Given the description of an element on the screen output the (x, y) to click on. 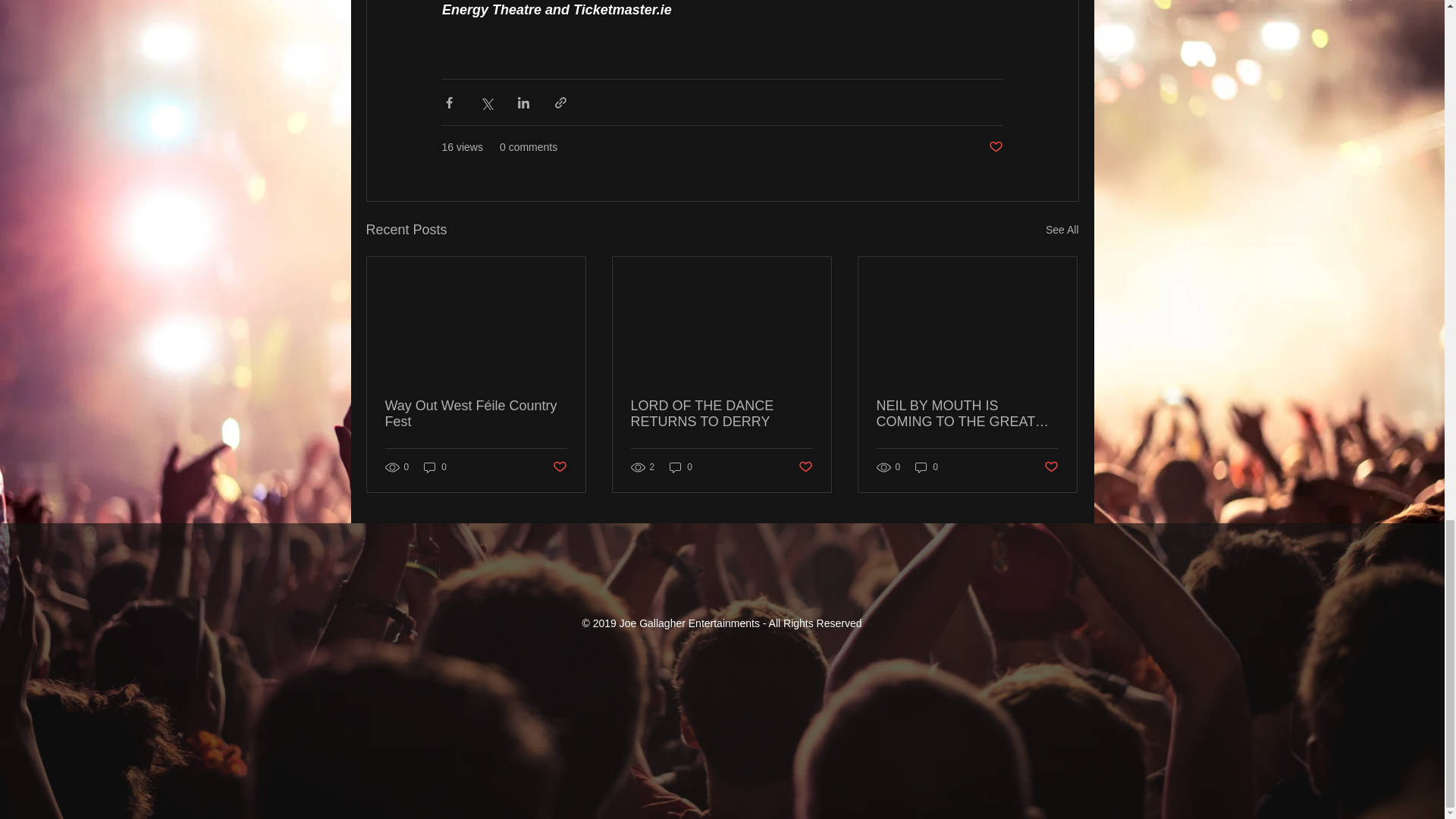
See All (1061, 229)
0 (926, 467)
Post not marked as liked (558, 466)
Post not marked as liked (995, 147)
Post not marked as liked (1050, 466)
0 (681, 467)
0 (435, 467)
Post not marked as liked (804, 466)
LORD OF THE DANCE RETURNS TO DERRY (721, 413)
